Given the description of an element on the screen output the (x, y) to click on. 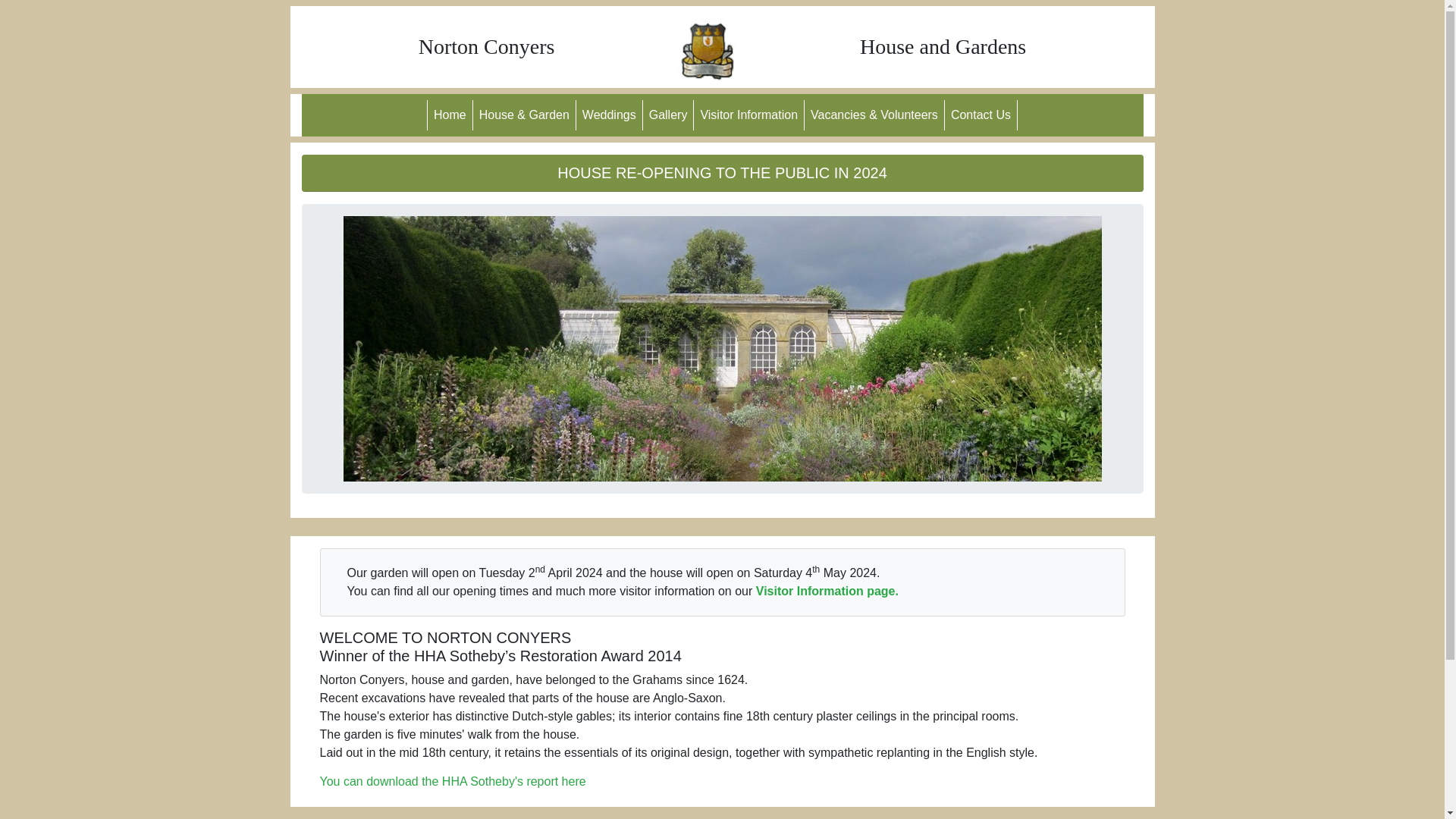
Visitor Information (749, 114)
Visitor Information page. (826, 590)
You can download the HHA Sotheby's report here (453, 780)
Gallery (668, 114)
Contact Us (980, 114)
Weddings (609, 114)
Home (449, 114)
